Given the description of an element on the screen output the (x, y) to click on. 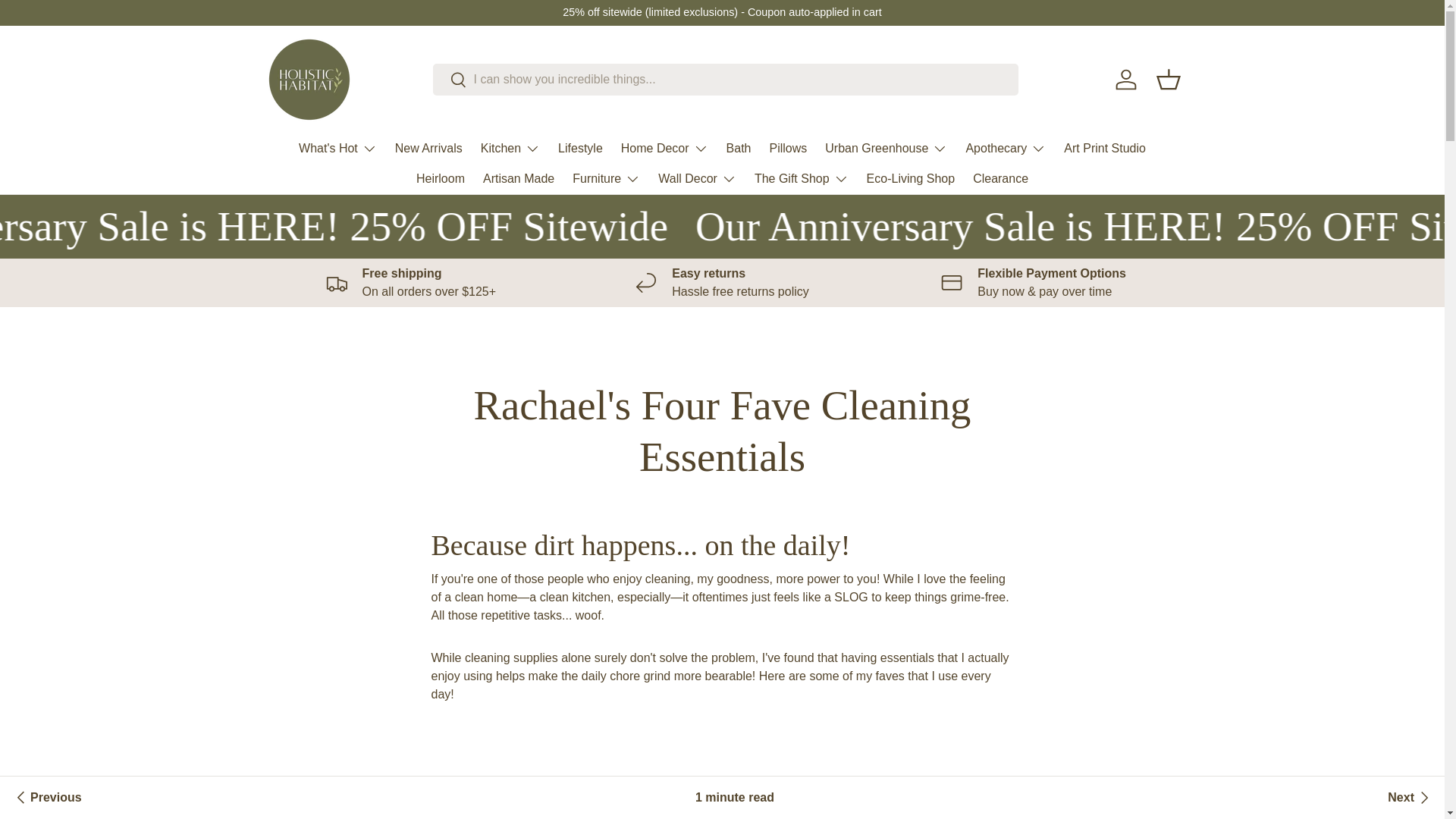
Home Decor (664, 148)
Big News! We're Gonna Be On TV! (46, 797)
Log in (1124, 79)
Lifestyle (579, 147)
What's Hot (337, 148)
Search (448, 80)
Kitchen (510, 148)
New Arrivals (428, 147)
Basket (1168, 79)
Make the Most of Your Wall Space (1409, 797)
Skip to content (68, 21)
